Given the description of an element on the screen output the (x, y) to click on. 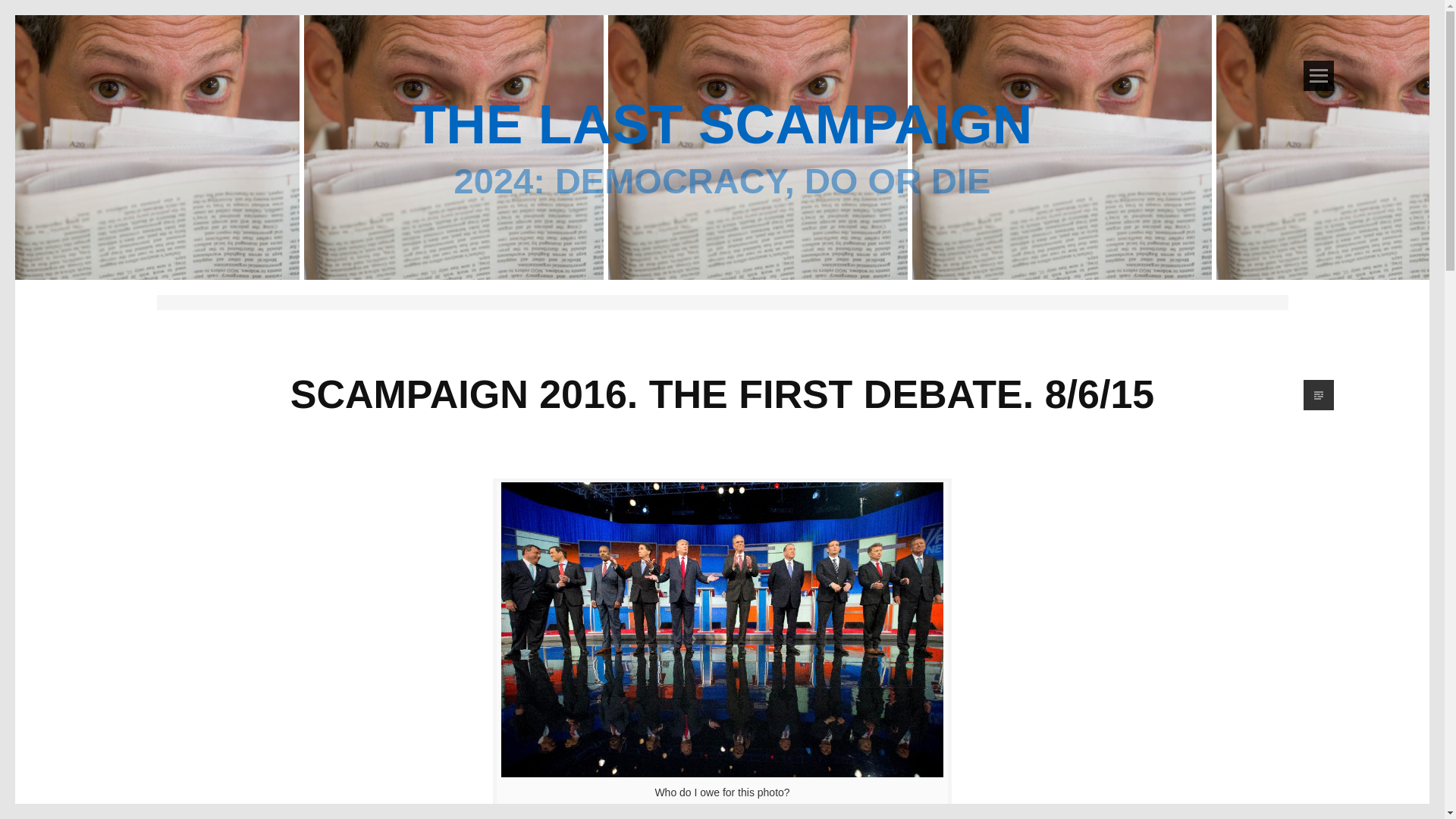
THE LAST SCAMPAIGN (722, 123)
